Given the description of an element on the screen output the (x, y) to click on. 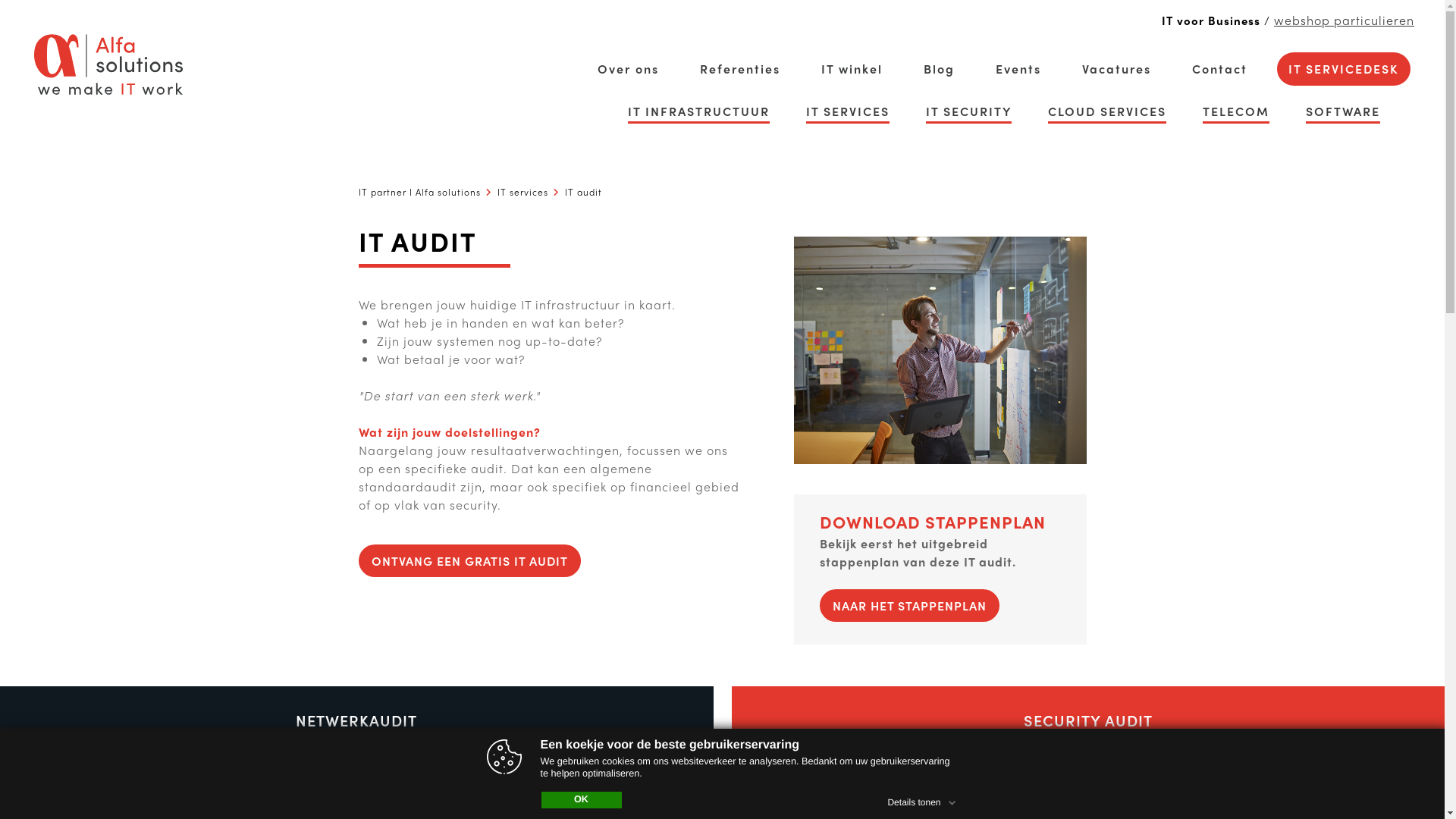
Details tonen Element type: text (922, 799)
Contact Element type: text (1219, 68)
Referenties Element type: text (739, 68)
Blog Element type: text (938, 68)
IT audit Element type: text (582, 191)
HOE VEILIG ZIJN MIJN SYSTEMEN? Element type: text (1088, 770)
ONTVANG EEN GRATIS IT AUDIT Element type: text (468, 560)
NAAR HET STAPPENPLAN Element type: text (909, 605)
IT winkel Element type: text (851, 68)
alfa solutions logo Element type: hover (108, 64)
IT services Element type: text (522, 191)
OK Element type: text (581, 799)
HOE ZIT HET MET MIJN NETWERK? Element type: text (356, 770)
Vacatures Element type: text (1116, 68)
IT SECURITY Element type: text (968, 111)
IT SERVICEDESK Element type: text (1343, 68)
CLOUD SERVICES Element type: text (1107, 111)
IT SERVICES Element type: text (847, 111)
IT INFRASTRUCTUUR Element type: text (698, 111)
IT AUDIT Element type: hover (939, 350)
webshop particulieren Element type: text (1344, 19)
Events Element type: text (1018, 68)
TELECOM Element type: text (1235, 111)
SOFTWARE Element type: text (1342, 111)
IT partner I Alfa solutions Element type: text (418, 191)
Over ons Element type: text (627, 68)
